Given the description of an element on the screen output the (x, y) to click on. 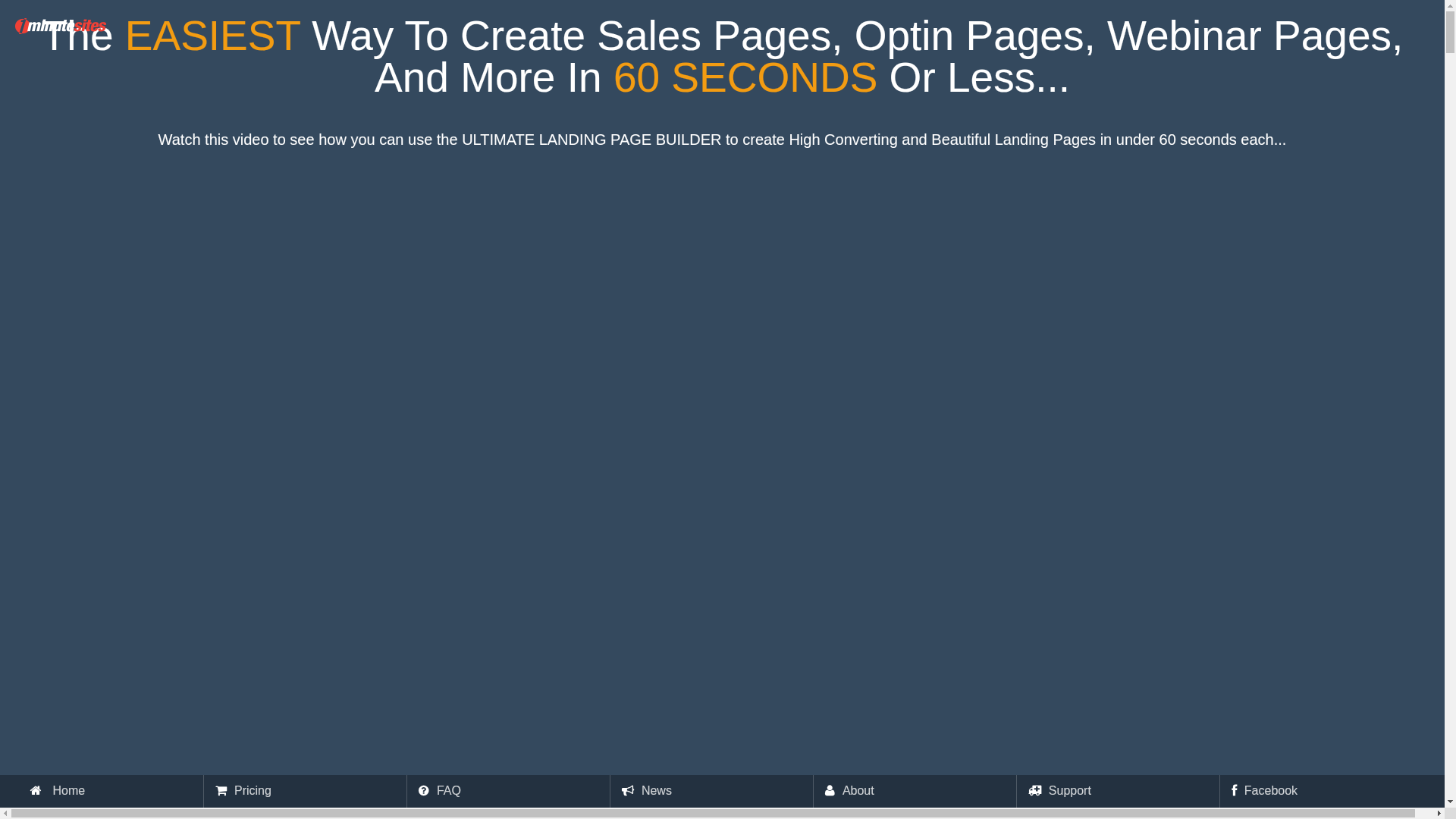
Pricing Element type: text (252, 791)
Support Element type: text (1069, 791)
News Element type: text (656, 791)
Facebook Element type: text (1270, 791)
About Element type: text (857, 791)
FAQ Element type: text (448, 791)
Home Element type: text (68, 791)
